Given the description of an element on the screen output the (x, y) to click on. 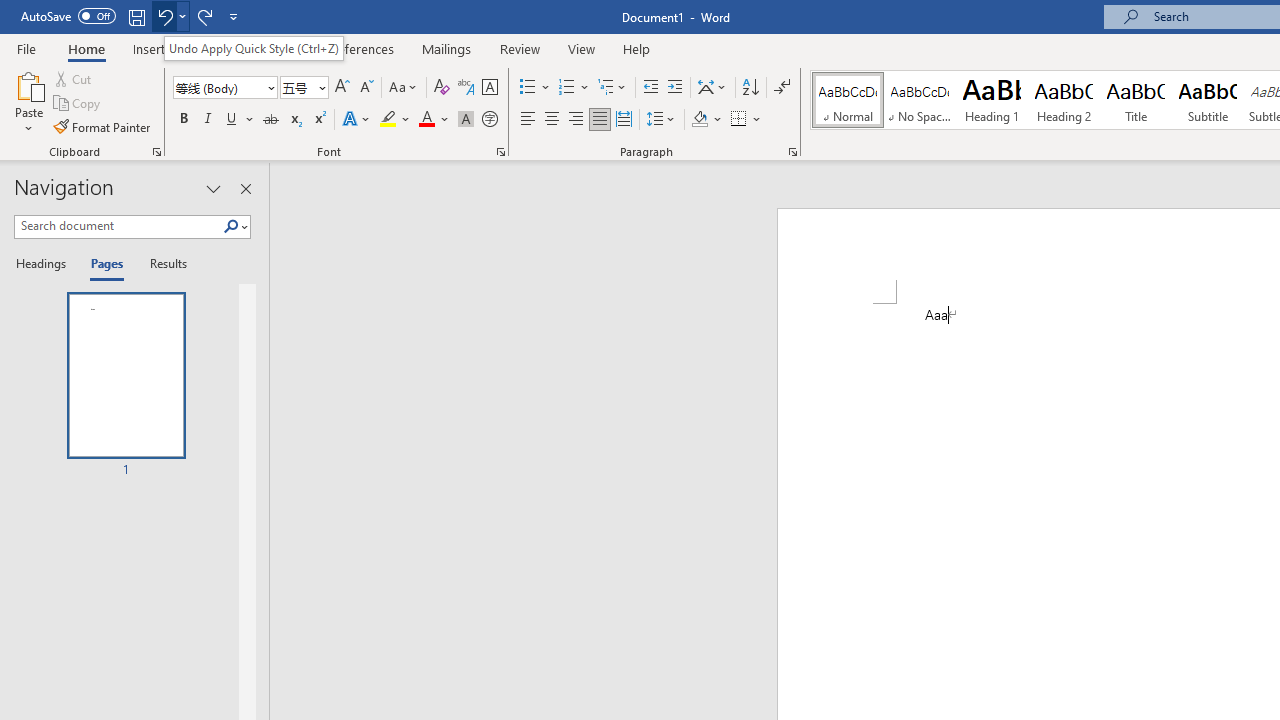
Heading 2 (1063, 100)
Open (320, 87)
Headings (45, 264)
Enclose Characters... (489, 119)
Title (1135, 100)
Subscript (294, 119)
Copy (78, 103)
